Given the description of an element on the screen output the (x, y) to click on. 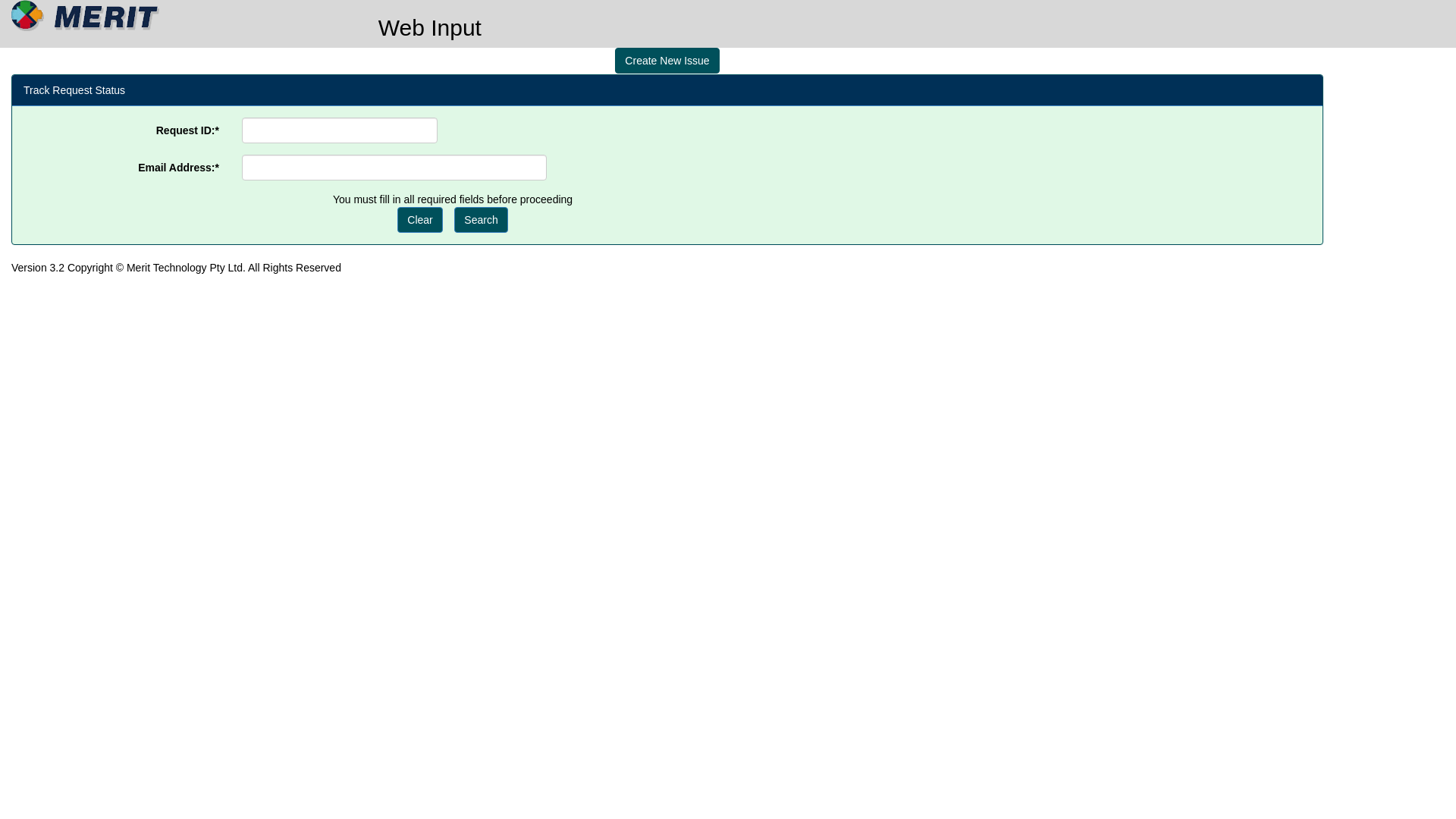
Create New Issue Element type: text (666, 60)
